Given the description of an element on the screen output the (x, y) to click on. 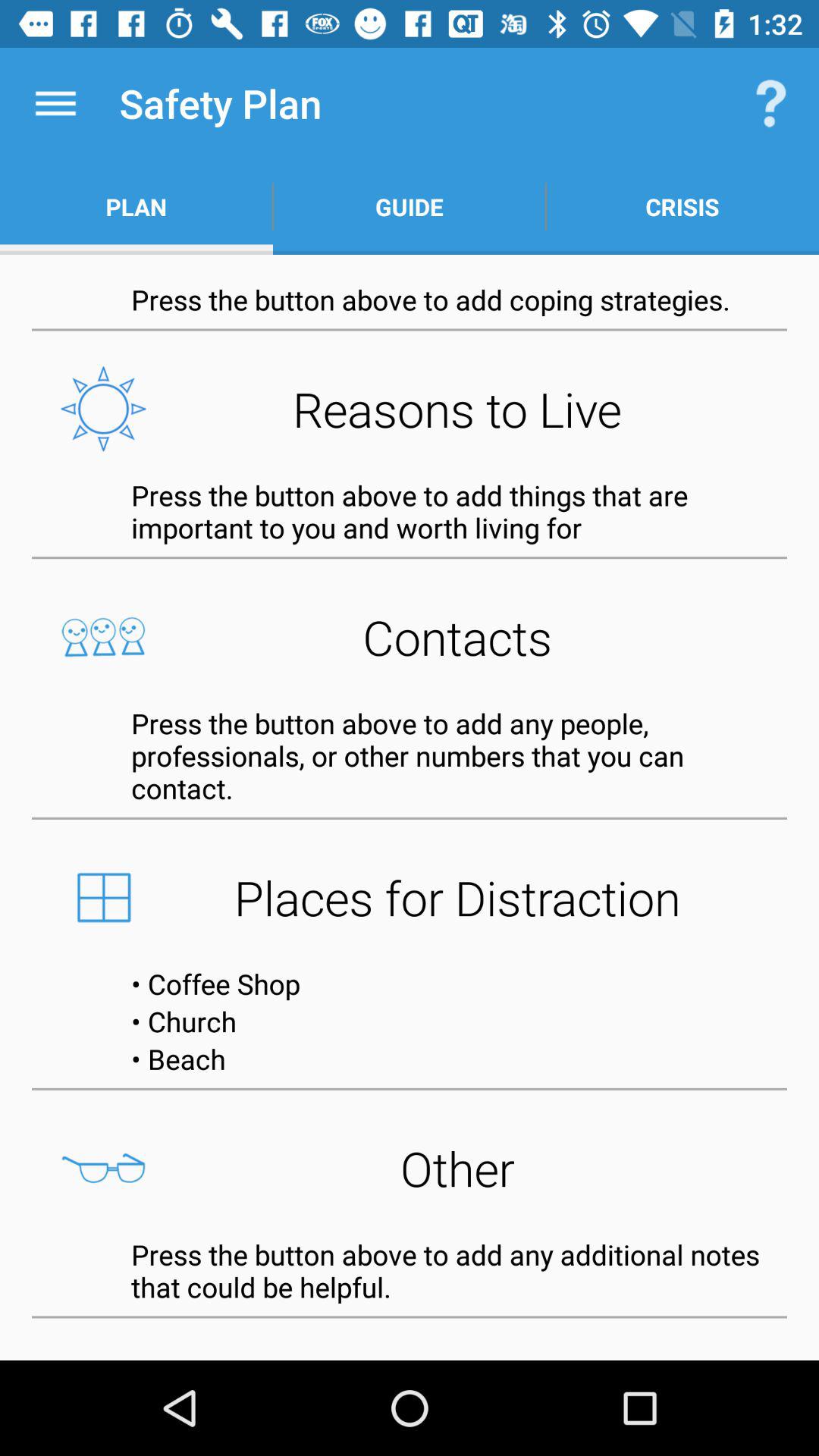
tap the item to the right of the plan item (409, 206)
